Given the description of an element on the screen output the (x, y) to click on. 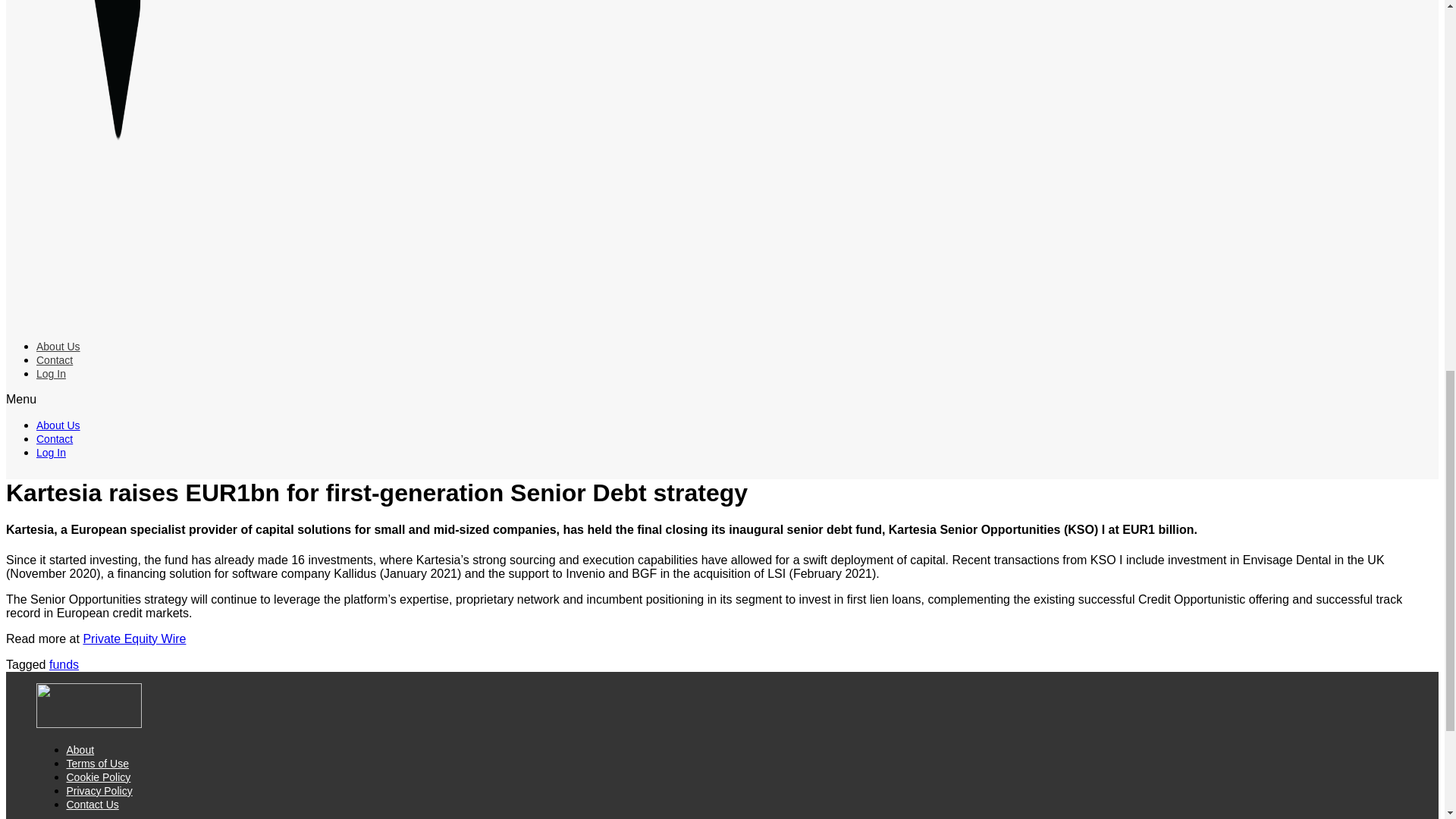
Contact (54, 359)
Cookie Policy (98, 776)
About (80, 749)
Terms of Use (97, 763)
Contact Us (92, 804)
funds (63, 664)
Privacy Policy (99, 790)
Private Equity Wire (134, 638)
Contact (54, 439)
About Us (58, 346)
